Given the description of an element on the screen output the (x, y) to click on. 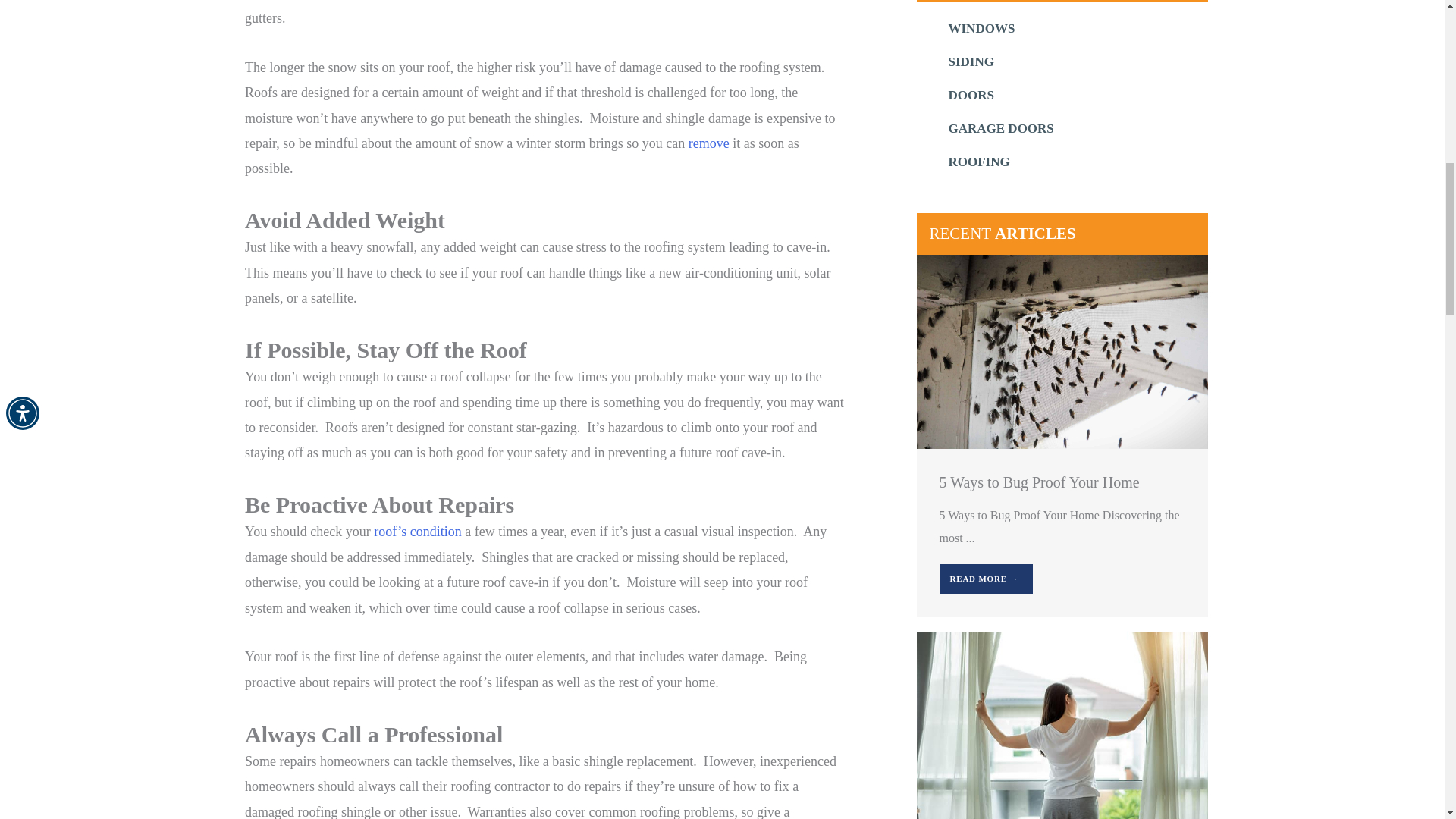
Pocket Window Replacement vs Full-Frame Window Replacement (1061, 727)
5 Ways to Bug Proof Your Home (1061, 350)
